Given the description of an element on the screen output the (x, y) to click on. 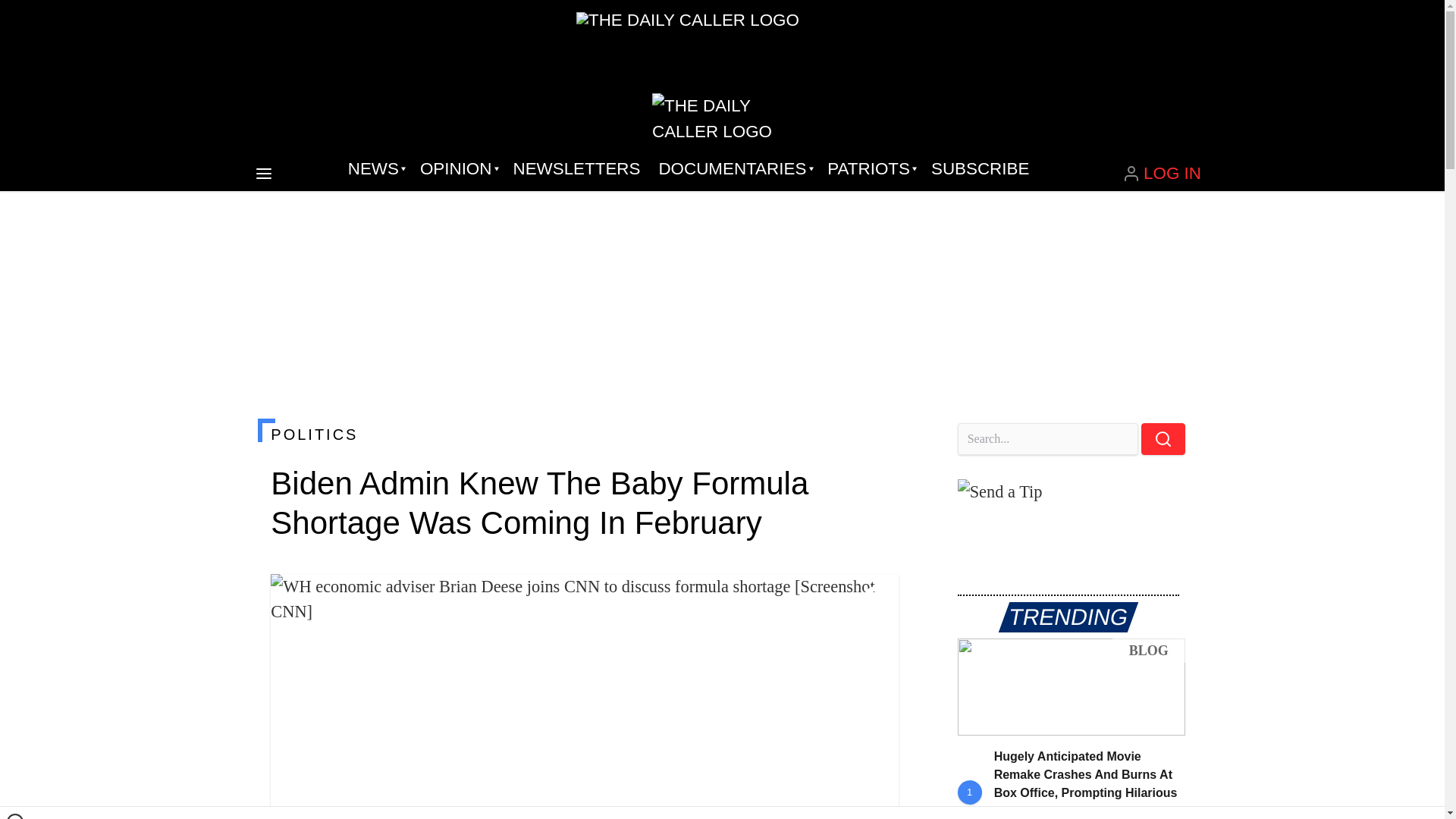
SUBSCRIBE (979, 168)
NEWSLETTERS (576, 168)
OPINION (456, 168)
PATRIOTS (869, 168)
DOCUMENTARIES (733, 168)
Close window (14, 816)
POLITICS (584, 434)
Toggle fullscreen (874, 597)
NEWS (374, 168)
